Given the description of an element on the screen output the (x, y) to click on. 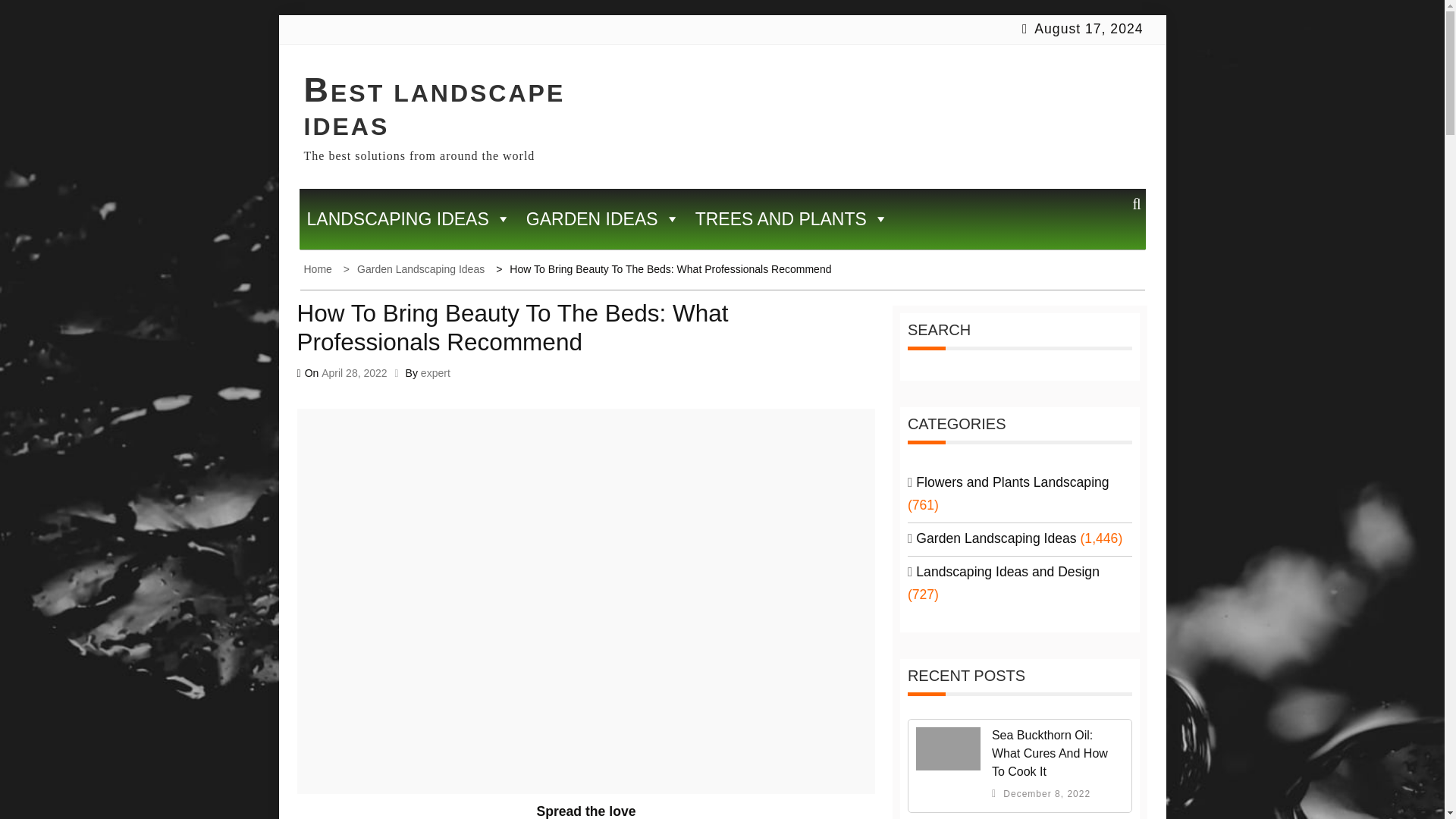
BEST LANDSCAPE IDEAS (433, 109)
GARDEN IDEAS (602, 219)
TREES AND PLANTS (791, 219)
LANDSCAPING IDEAS (408, 219)
